Given the description of an element on the screen output the (x, y) to click on. 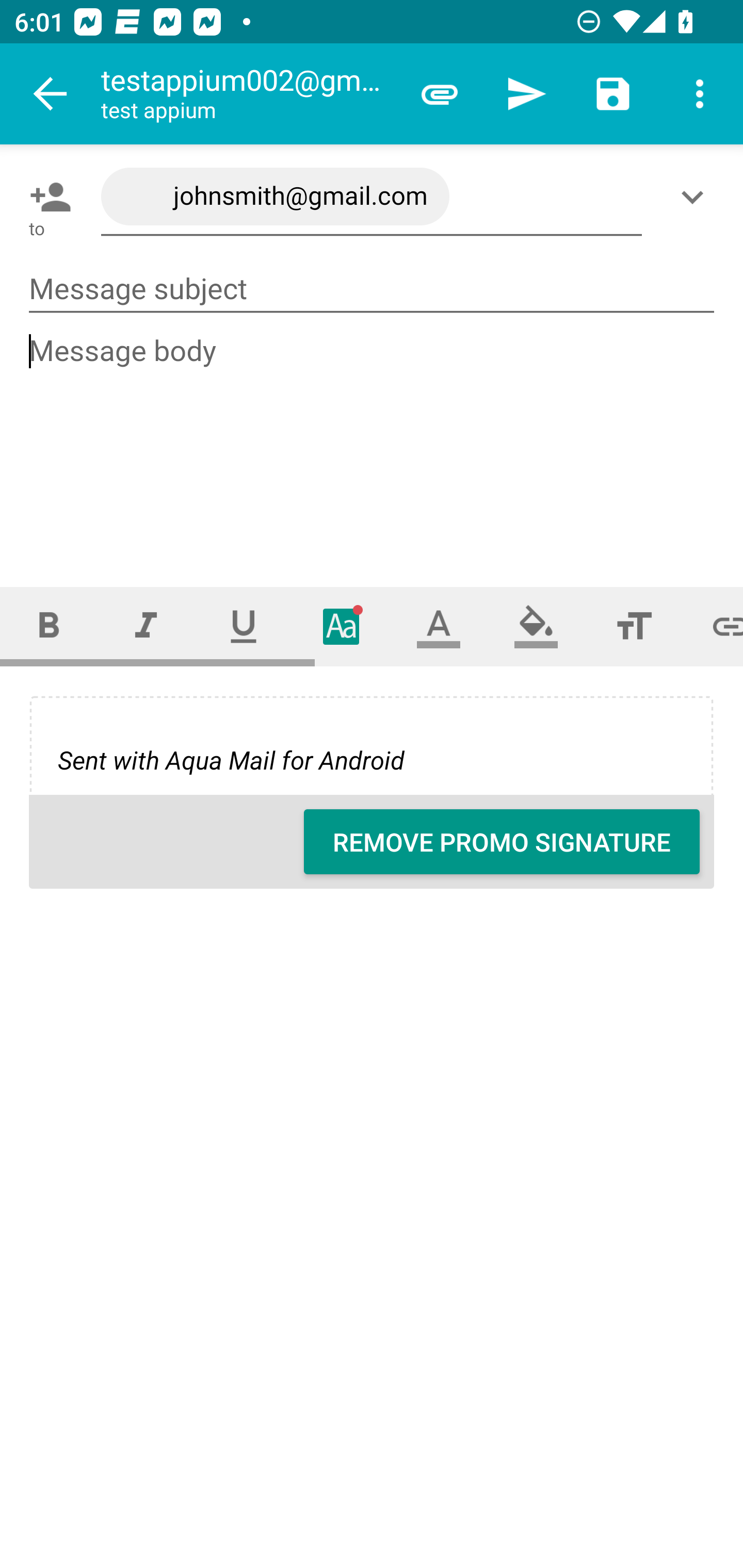
Navigate up (50, 93)
testappium002@gmail.com test appium (248, 93)
Attach (439, 93)
Send (525, 93)
Save (612, 93)
More options (699, 93)
johnsmith@gmail.com,  (371, 197)
Pick contact: To (46, 196)
Show/Add CC/BCC (696, 196)
Message subject (371, 288)
Message body (372, 442)
Bold (48, 626)
Italic (145, 626)
Underline (243, 626)
Typeface (font) (341, 626)
Text color (438, 626)
Fill color (536, 626)
Font size (633, 626)
REMOVE PROMO SIGNATURE (501, 841)
